Given the description of an element on the screen output the (x, y) to click on. 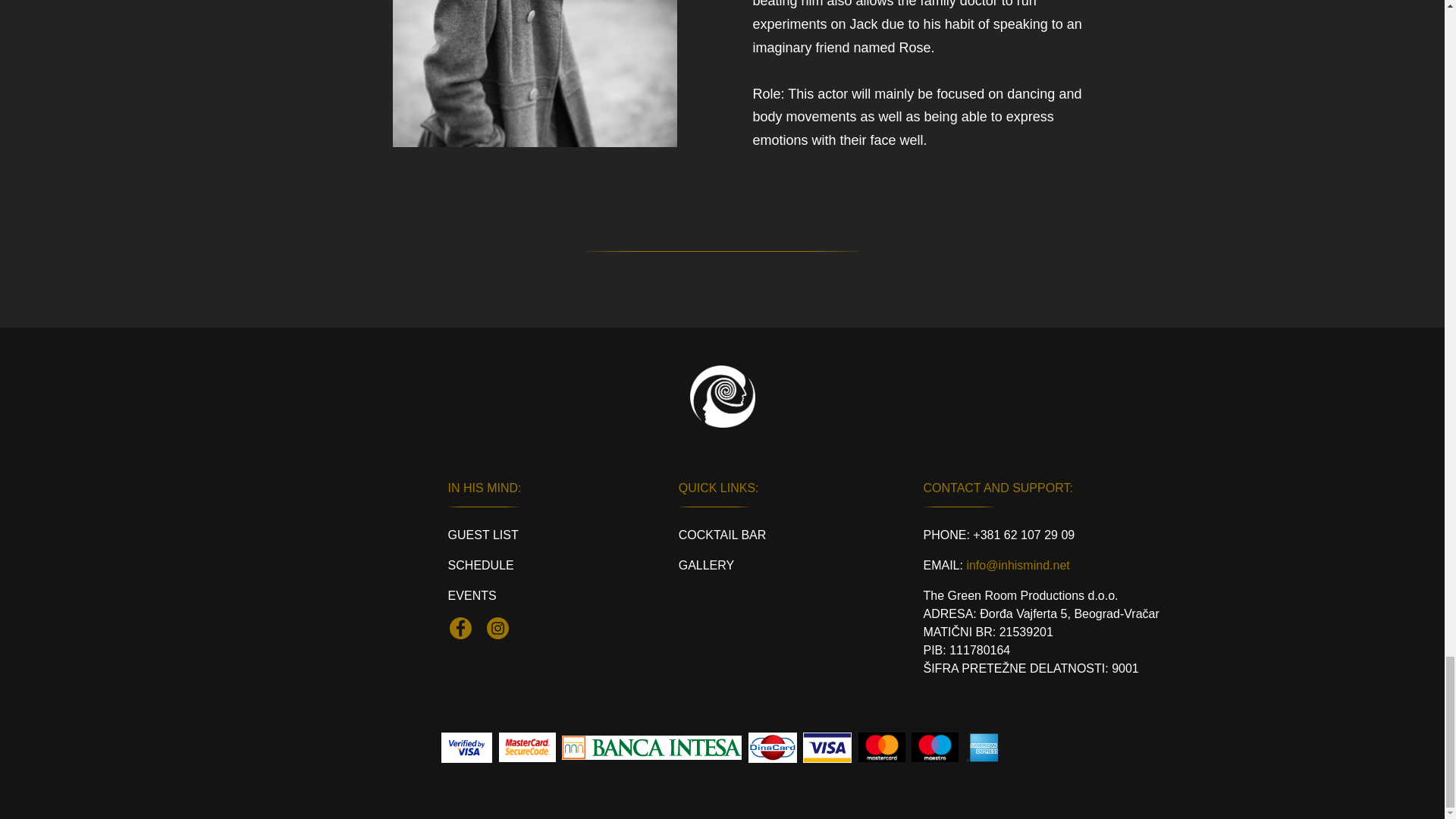
SCHEDULE (480, 564)
COCKTAIL BAR (722, 534)
GALLERY (706, 564)
GUEST LIST (483, 534)
EVENTS (472, 594)
